Given the description of an element on the screen output the (x, y) to click on. 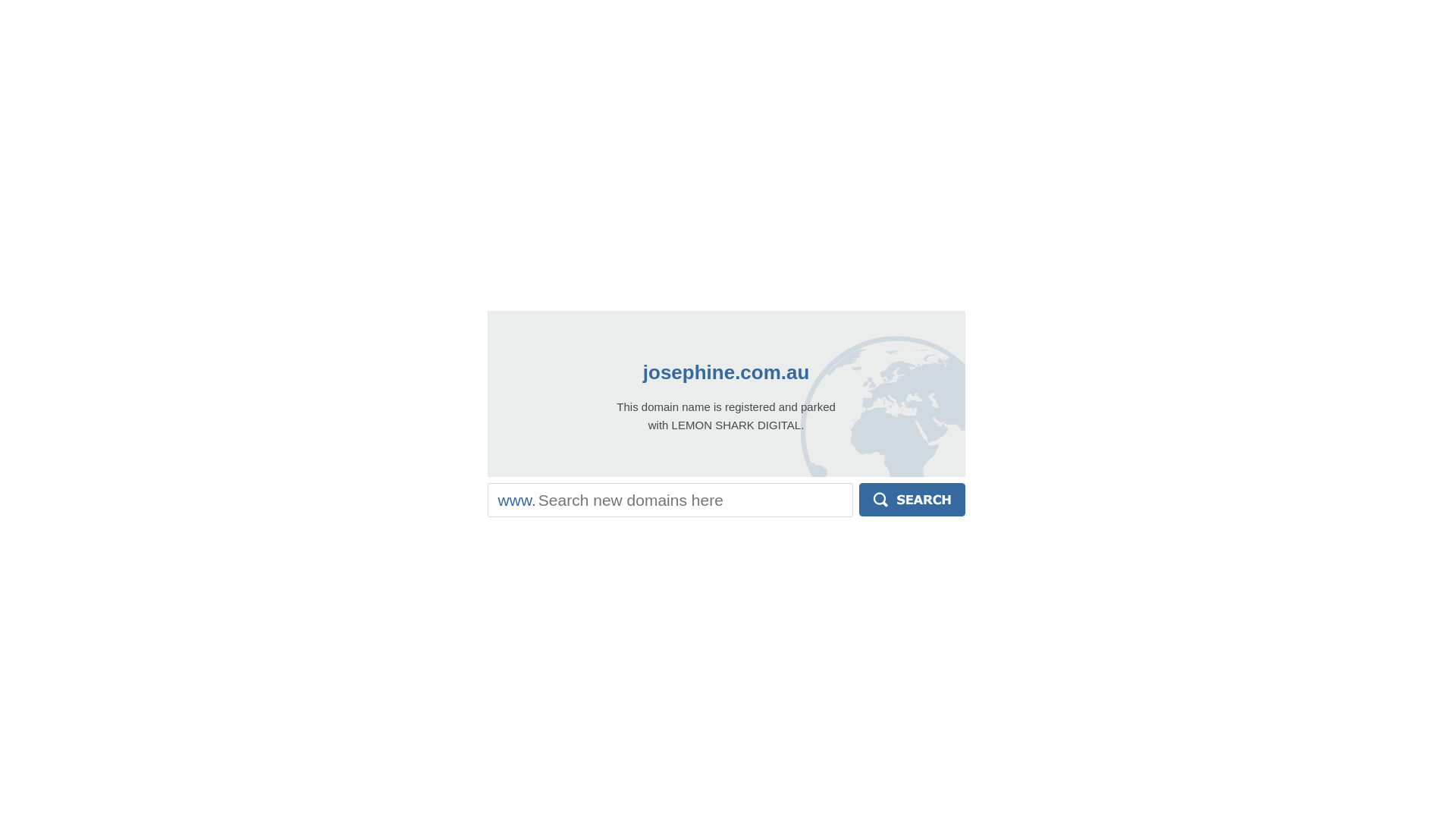
Search Element type: text (912, 499)
